Given the description of an element on the screen output the (x, y) to click on. 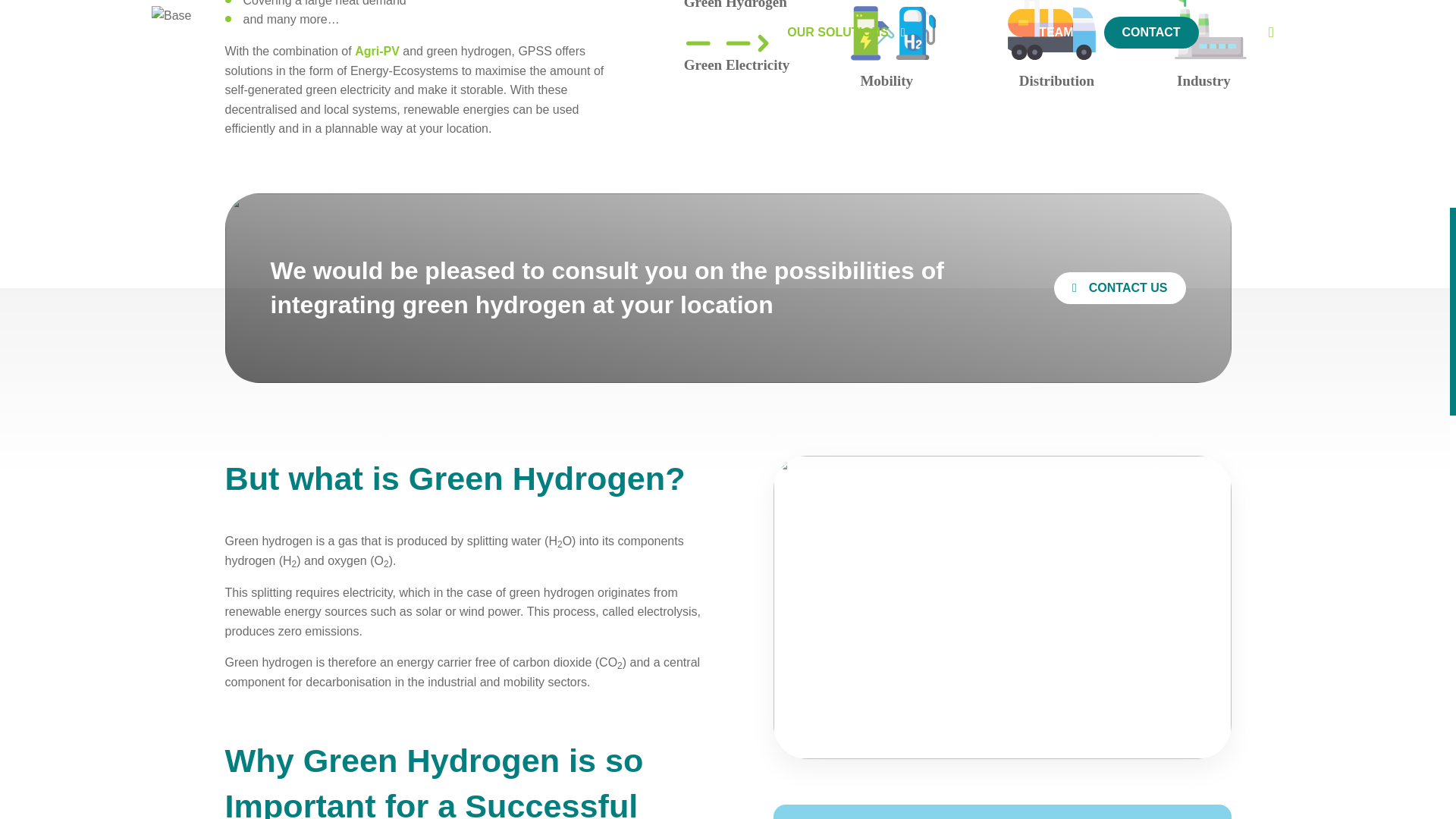
Agri-PV (376, 51)
CONTACT US (1120, 287)
